Given the description of an element on the screen output the (x, y) to click on. 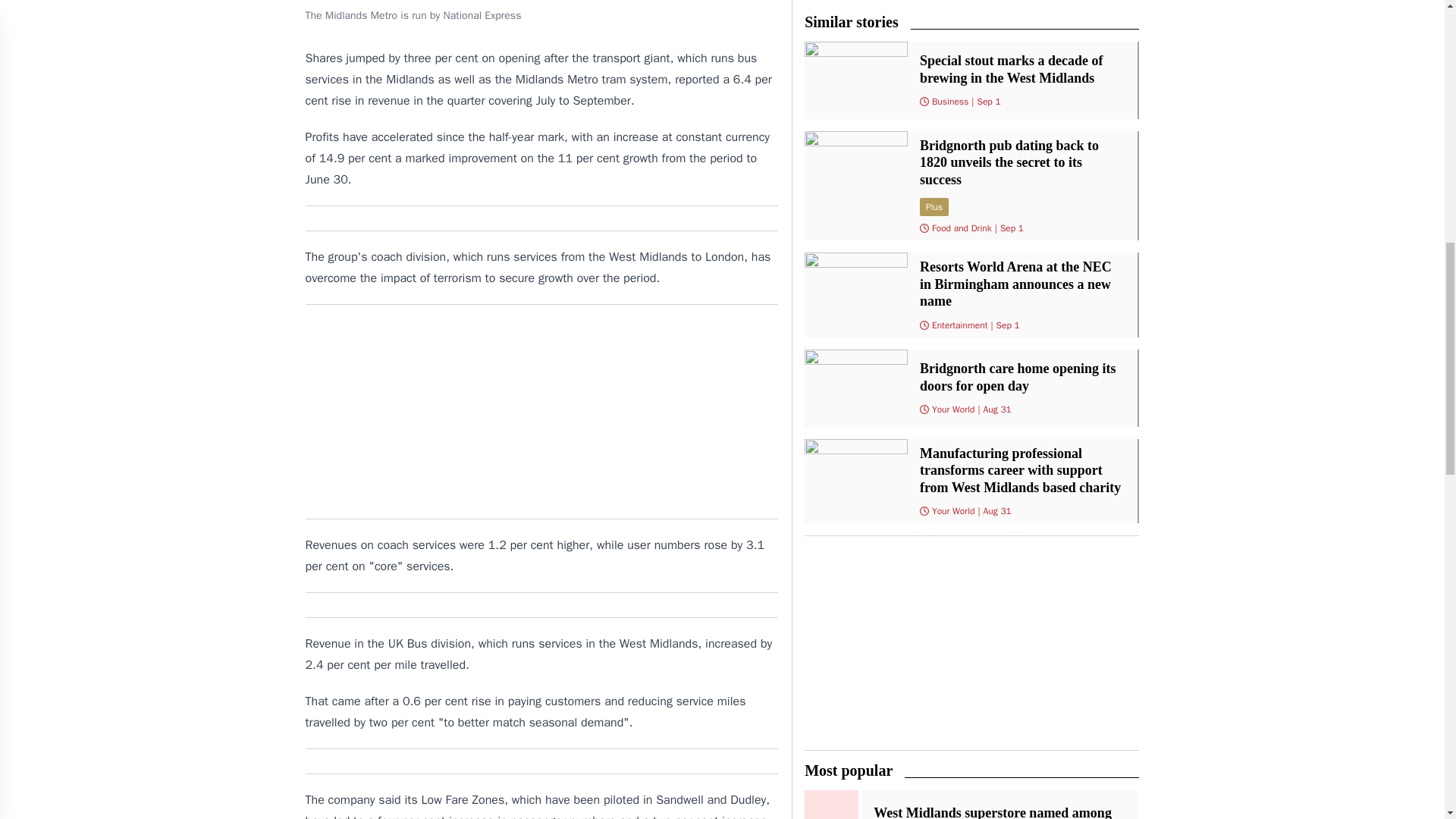
Your World (953, 510)
Entertainment (959, 325)
Your World (953, 409)
Business (949, 101)
Food and Drink (961, 227)
